Given the description of an element on the screen output the (x, y) to click on. 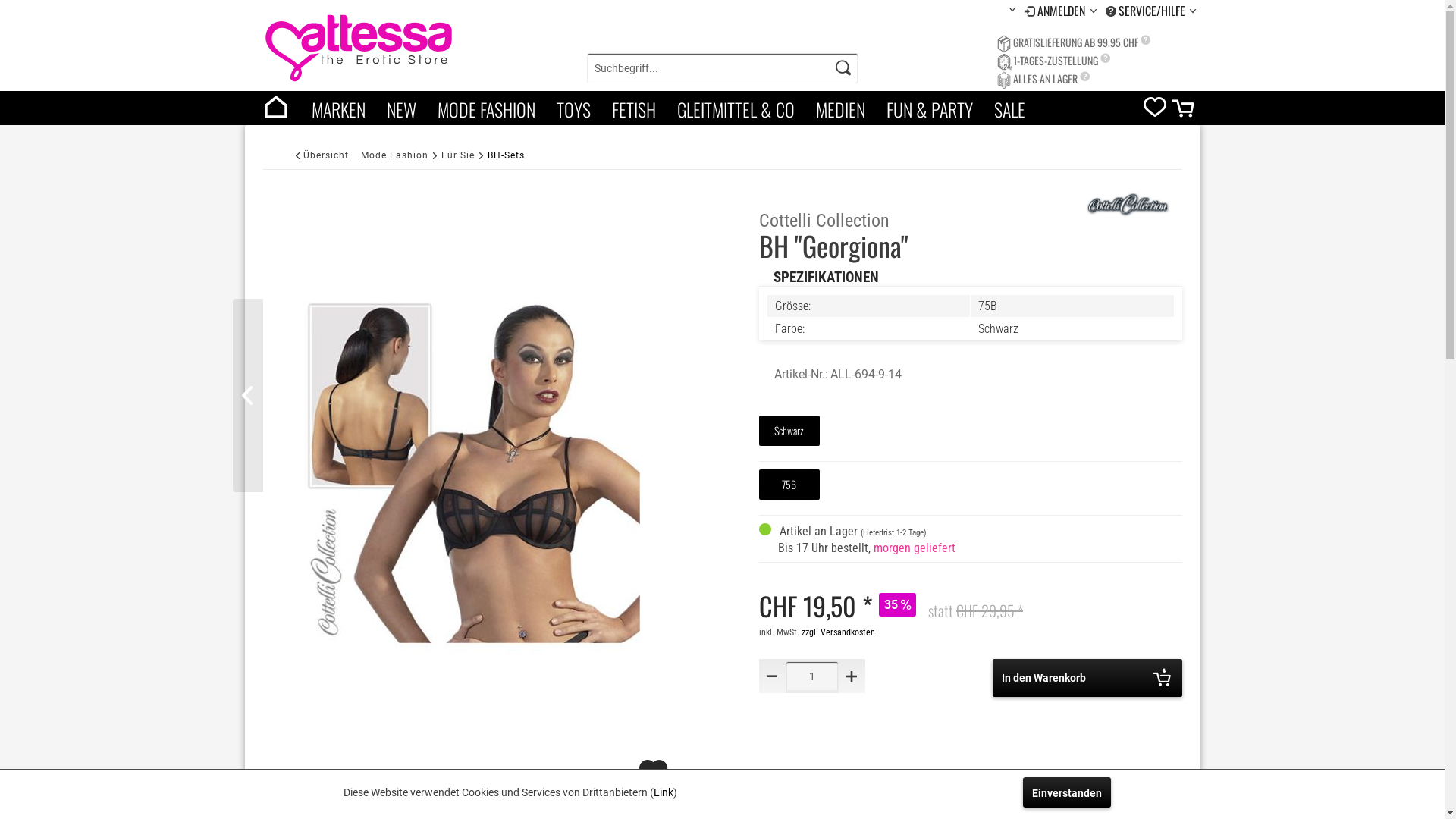
TOYS Element type: text (573, 108)
SALE Element type: text (1008, 108)
ANMELDEN Element type: text (1062, 10)
Warenkorb Element type: hover (1183, 111)
morgen geliefert Element type: text (914, 547)
Link Element type: text (663, 792)
MODE FASHION Element type: text (485, 108)
BH-Sets Element type: text (506, 154)
Home Element type: hover (275, 108)
Merkzettel Element type: hover (1154, 110)
zzgl. Versandkosten Element type: text (838, 632)
SPEZIFIKATIONEN Element type: text (825, 275)
GLEITMITTEL & CO Element type: text (734, 108)
MARKEN Element type: text (337, 108)
Auf den Merkzettel Element type: hover (655, 778)
NEW Element type: text (401, 108)
FUN & PARTY Element type: text (928, 108)
MEDIEN Element type: text (840, 108)
Einverstanden Element type: text (1066, 792)
FETISH Element type: text (632, 108)
BH Set "Mina" Element type: hover (247, 395)
Mode Fashion Element type: text (393, 154)
In den Warenkorb Element type: text (1086, 677)
Weitere Artikel von Cottelli Collection Element type: hover (1126, 203)
